Given the description of an element on the screen output the (x, y) to click on. 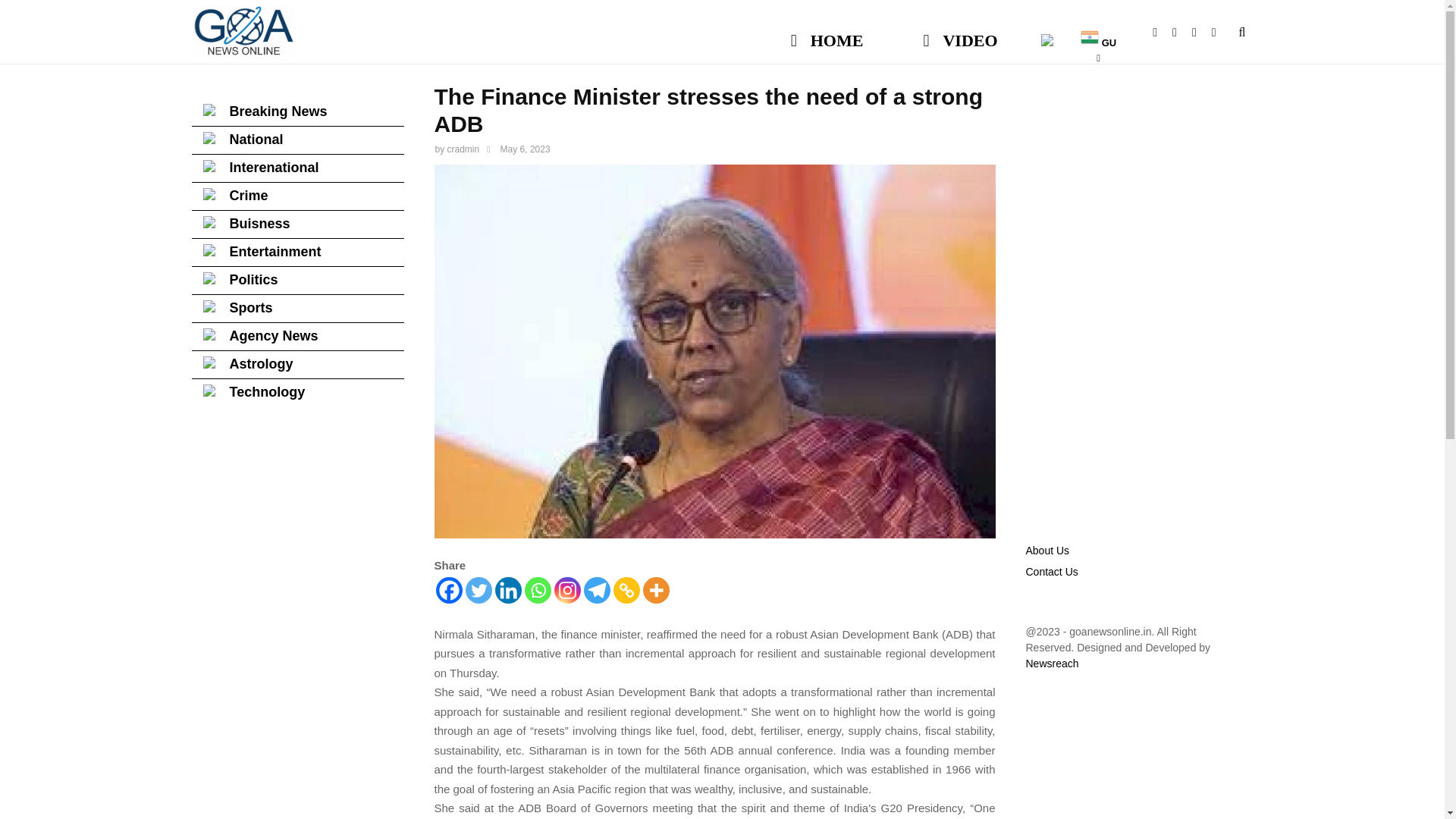
VIDEO (960, 33)
Facebook (1162, 31)
Whatsapp (1221, 31)
cradmin (463, 149)
Linkedin (508, 590)
HOME (826, 33)
Youtube (1182, 31)
GU (1098, 33)
Gujarati (1098, 33)
Whatsapp (537, 590)
